Given the description of an element on the screen output the (x, y) to click on. 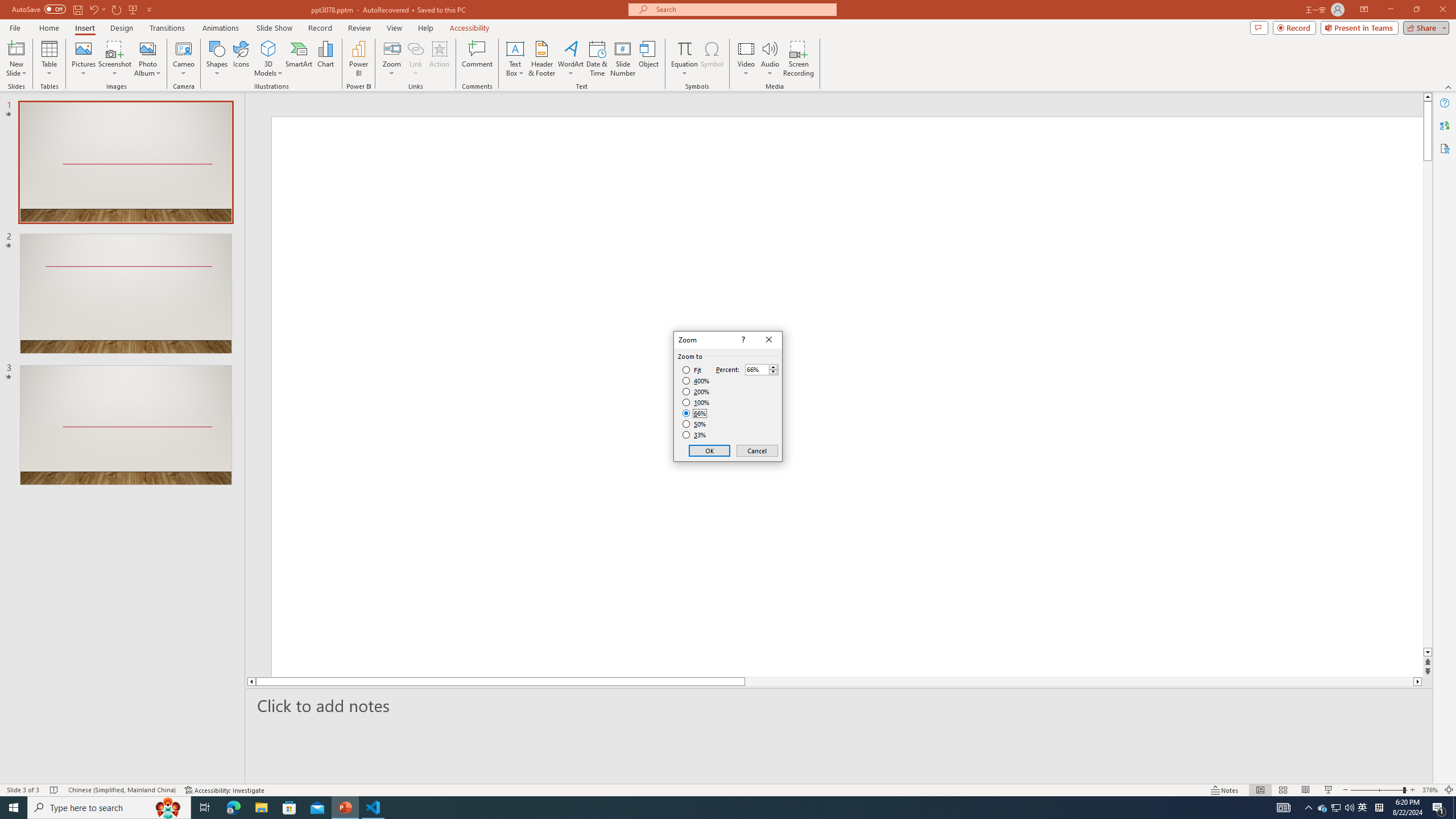
Header & Footer... (1362, 807)
An abstract genetic concept (541, 58)
Equation (363, 526)
Link (683, 48)
Action Center, 1 new notification (415, 58)
Less (1439, 807)
Zoom 376% (772, 372)
Notification Chevron (1430, 790)
Search highlights icon opens search home window (1308, 807)
